Given the description of an element on the screen output the (x, y) to click on. 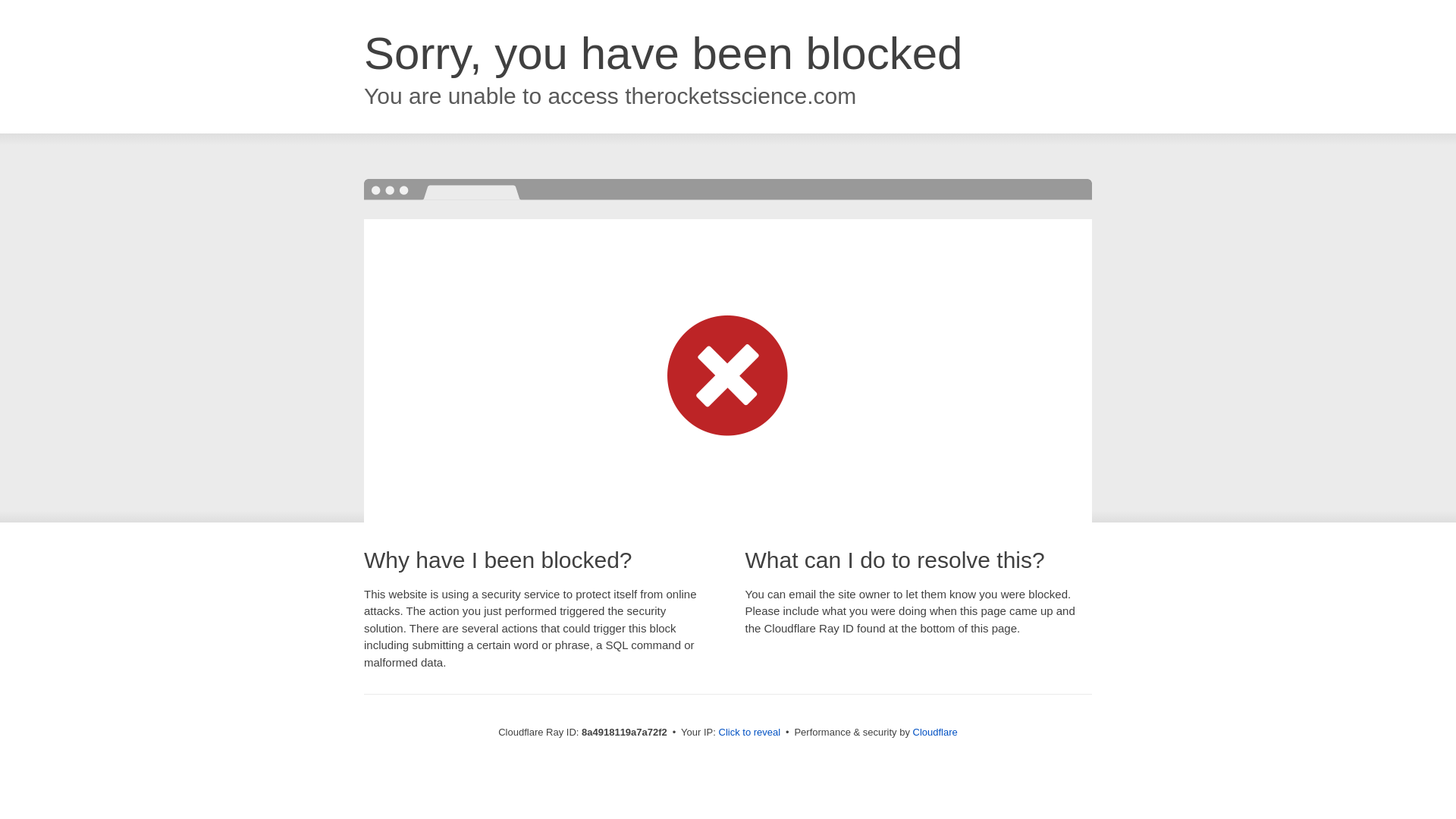
Cloudflare (935, 731)
Click to reveal (749, 732)
